Given the description of an element on the screen output the (x, y) to click on. 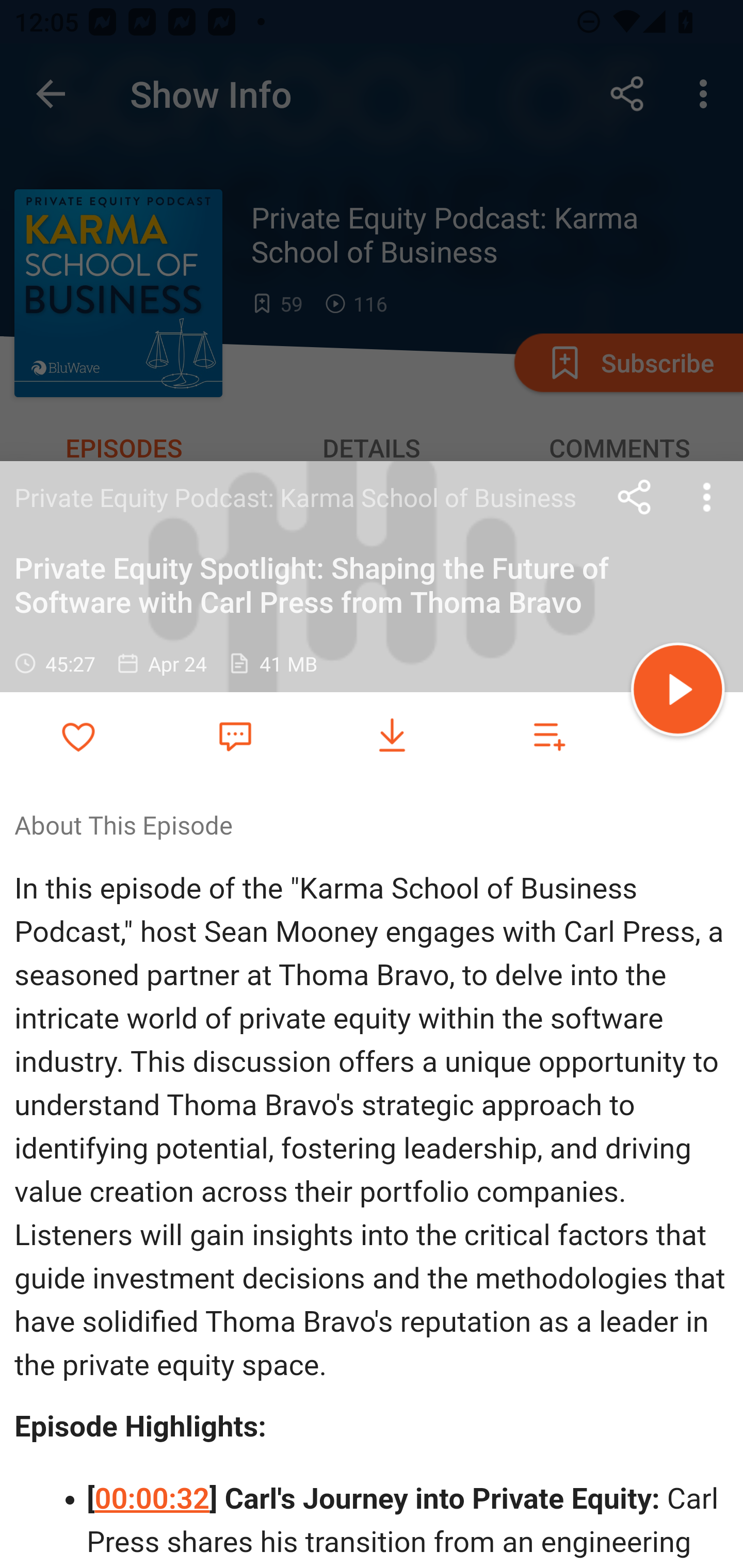
Share (634, 496)
more options (706, 496)
Play (677, 692)
Favorite (234, 735)
Add to Favorites (78, 735)
Download (391, 735)
Add to playlist (548, 735)
00:00:32 (152, 1498)
